Given the description of an element on the screen output the (x, y) to click on. 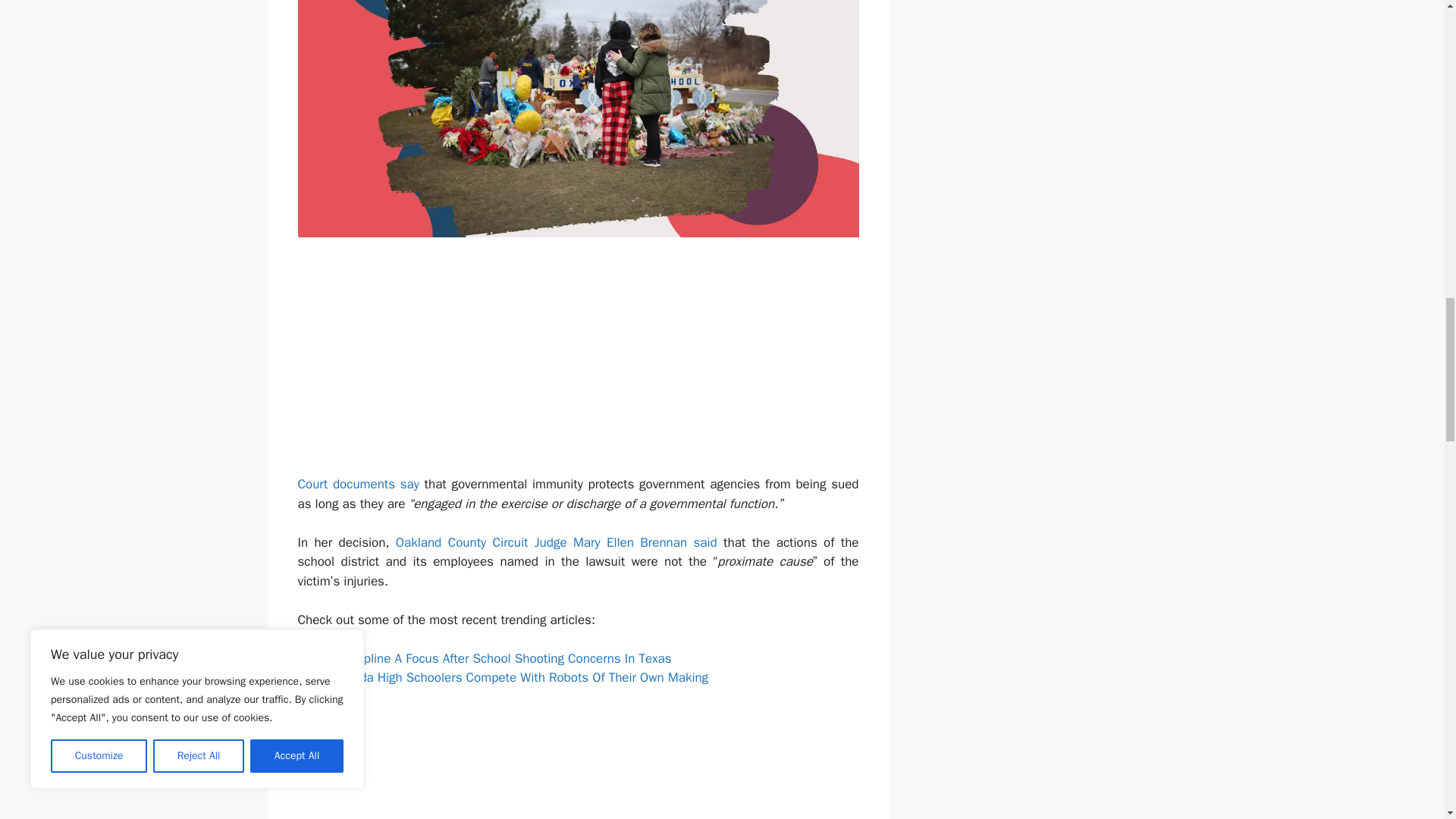
Court documents say (358, 483)
Oakland County Circuit Judge Mary Ellen Brennan said (556, 542)
Discipline A Focus After School Shooting Concerns In Texas (503, 658)
Advertisement (682, 762)
